Given the description of an element on the screen output the (x, y) to click on. 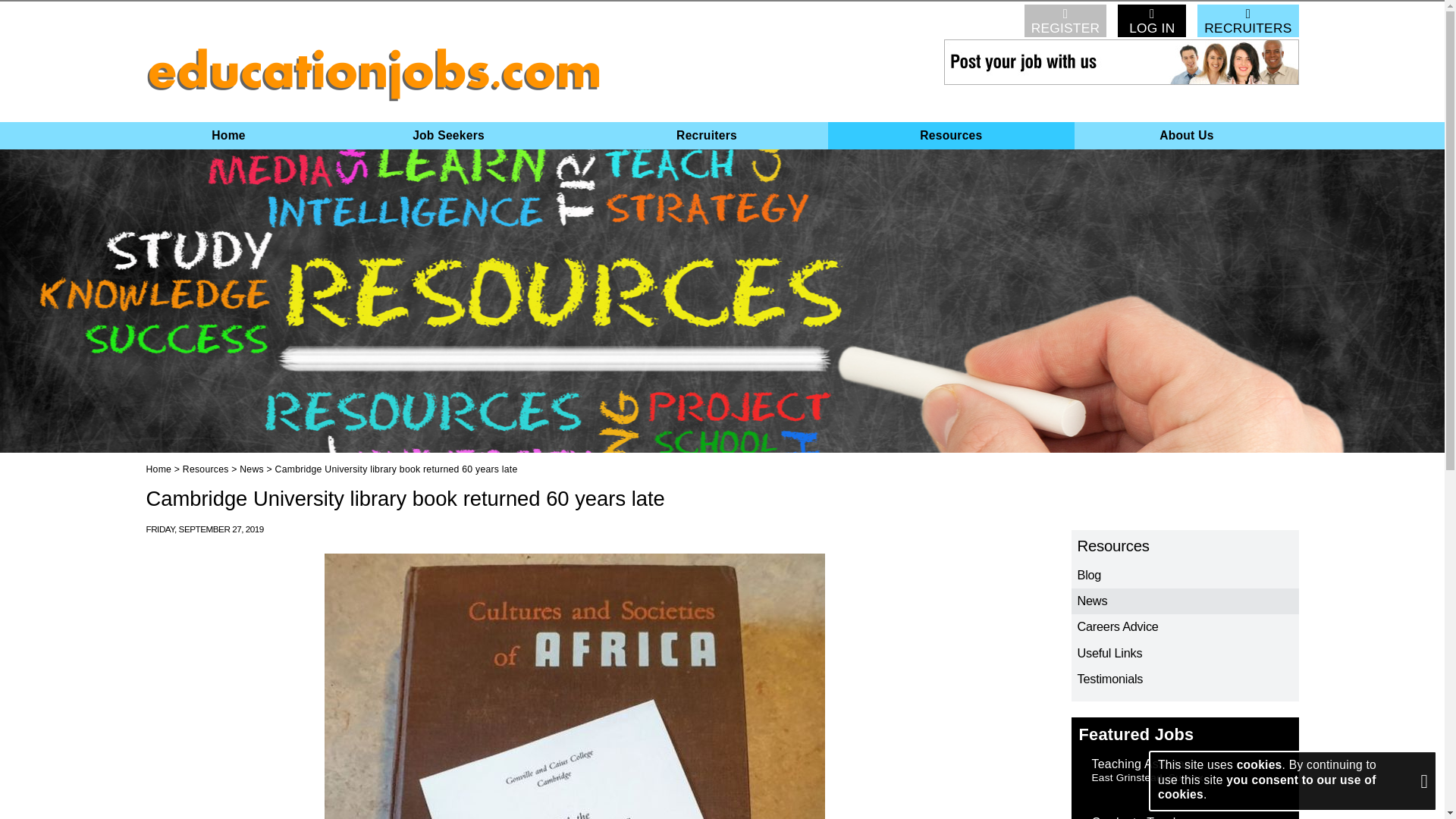
Recruiters (706, 135)
News (1184, 601)
Careers Advice (1184, 626)
Job Seekers (448, 135)
About Us (1186, 135)
Useful Links (1184, 653)
Resources (1184, 545)
RECRUITERS (1247, 20)
REGISTER (1065, 20)
Resources (951, 135)
